Given the description of an element on the screen output the (x, y) to click on. 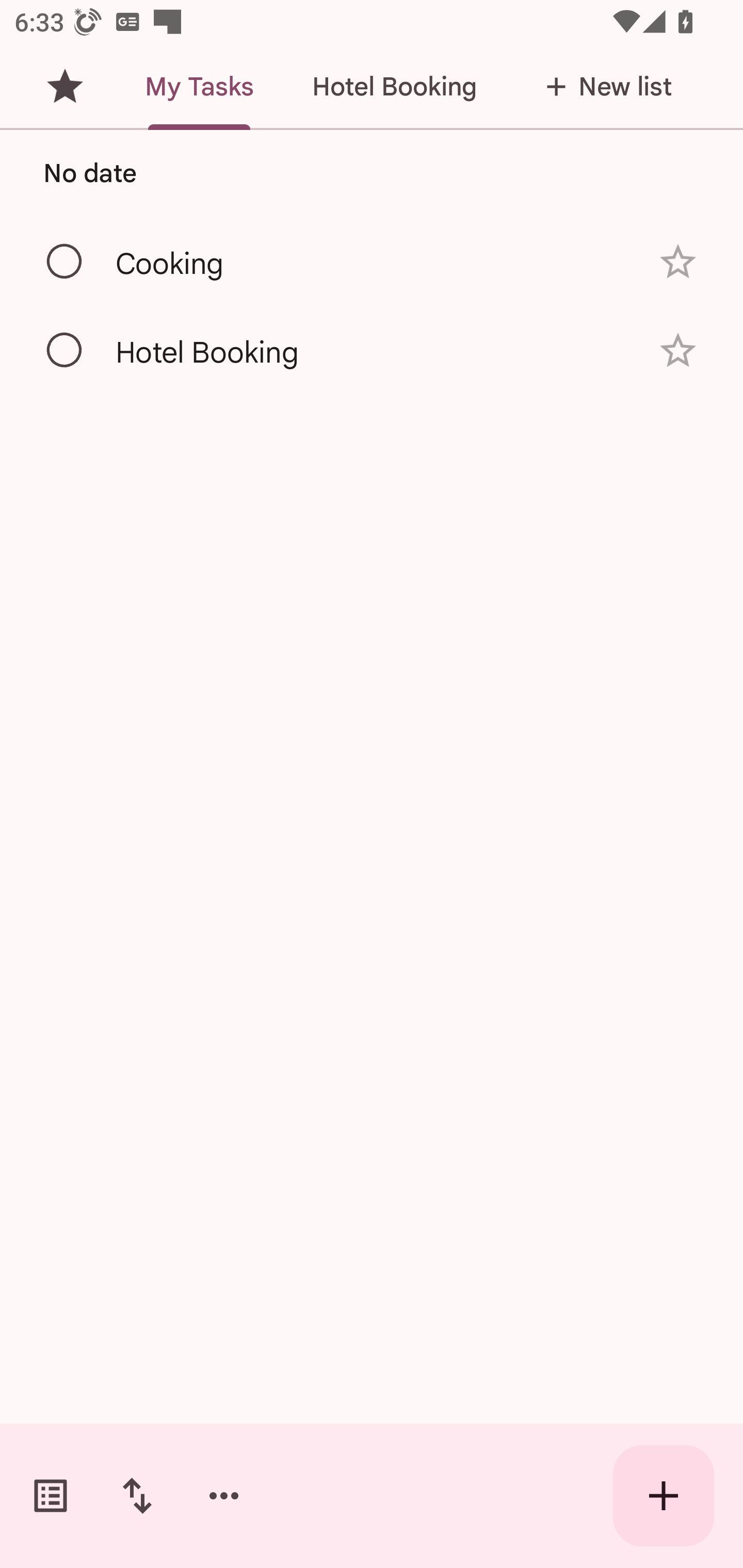
Starred (64, 86)
Hotel Booking (394, 86)
New list (602, 86)
Cooking Cooking Add star Mark as complete (371, 260)
Add star (677, 261)
Mark as complete (64, 261)
Add star (677, 350)
Mark as complete (64, 351)
Switch task lists (50, 1495)
Create new task (663, 1495)
Change sort order (136, 1495)
More options (223, 1495)
